Given the description of an element on the screen output the (x, y) to click on. 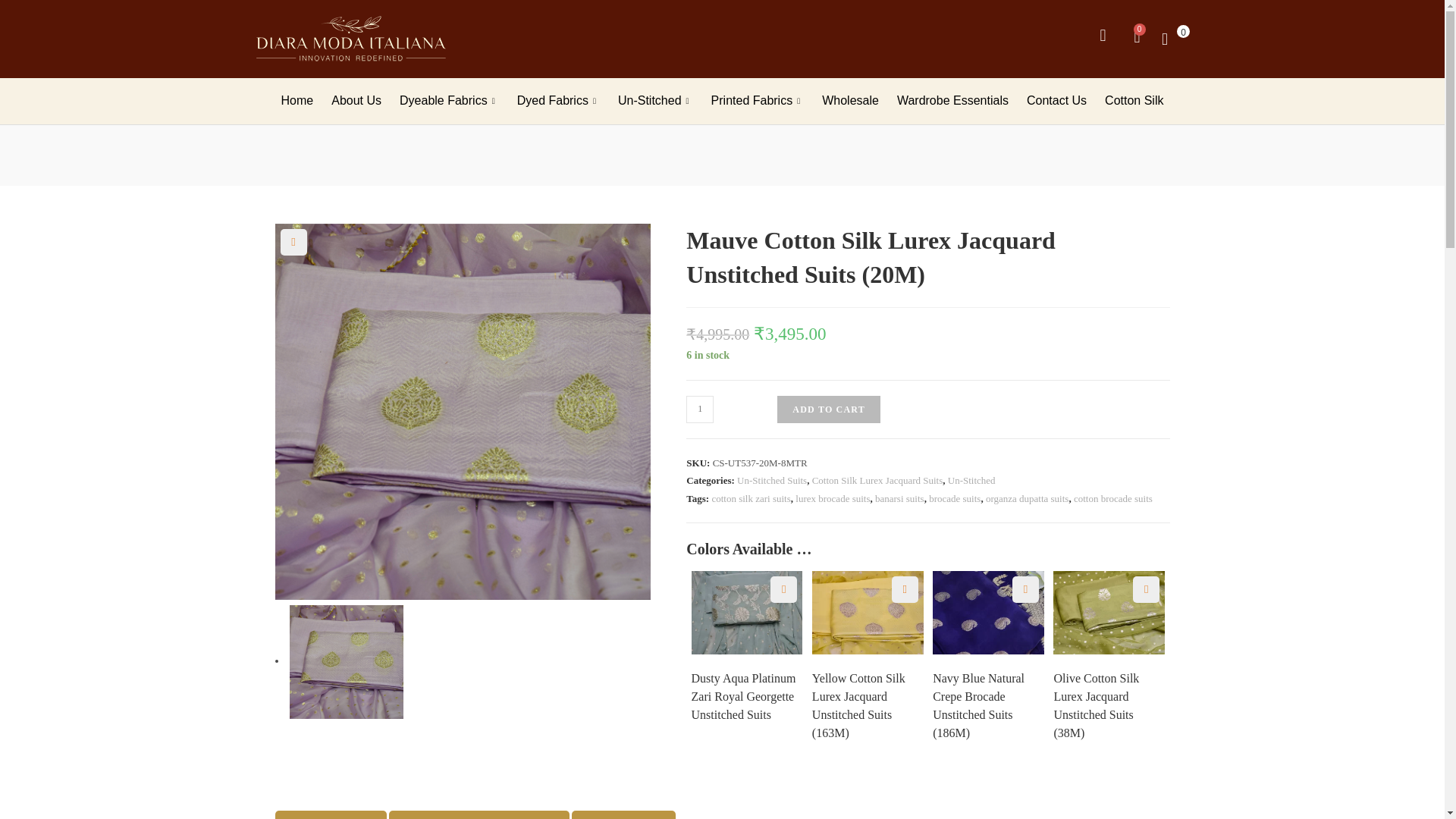
Home (297, 100)
1 (699, 409)
0 (1170, 38)
About Us (355, 100)
Dyeable Fabrics (449, 100)
